Given the description of an element on the screen output the (x, y) to click on. 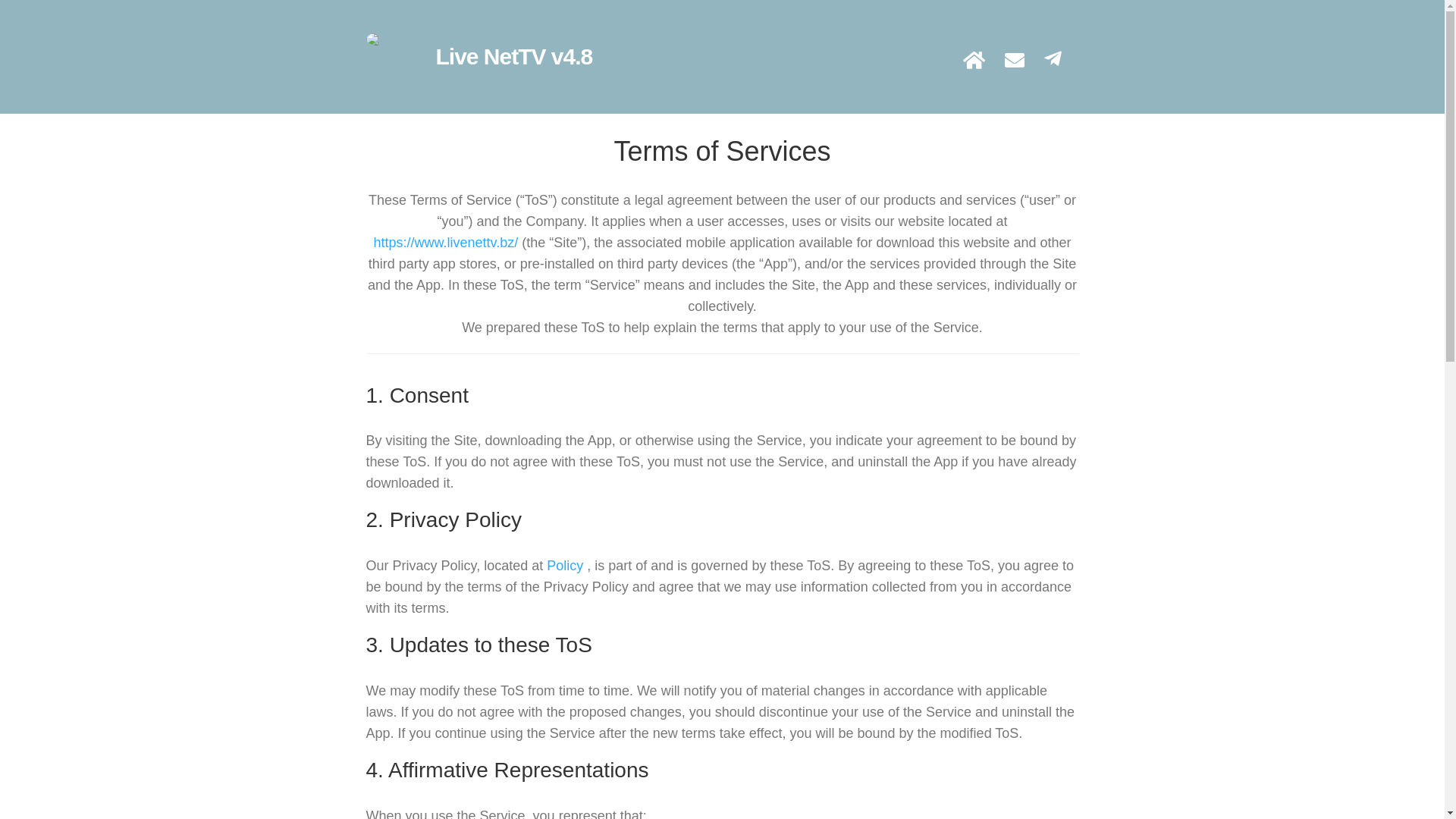
https://www.livenettv.bz/ Element type: text (445, 242)
Policy Element type: text (564, 565)
